Given the description of an element on the screen output the (x, y) to click on. 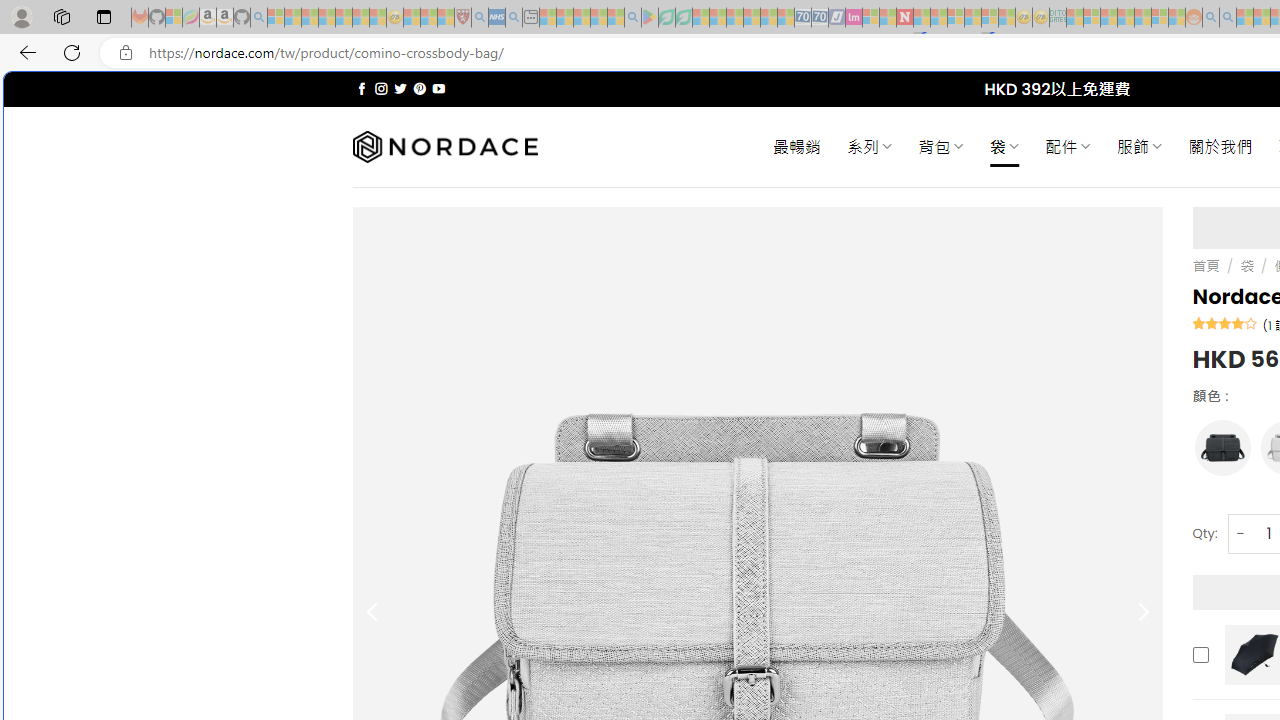
- (1240, 532)
Follow on YouTube (438, 88)
